Given the description of an element on the screen output the (x, y) to click on. 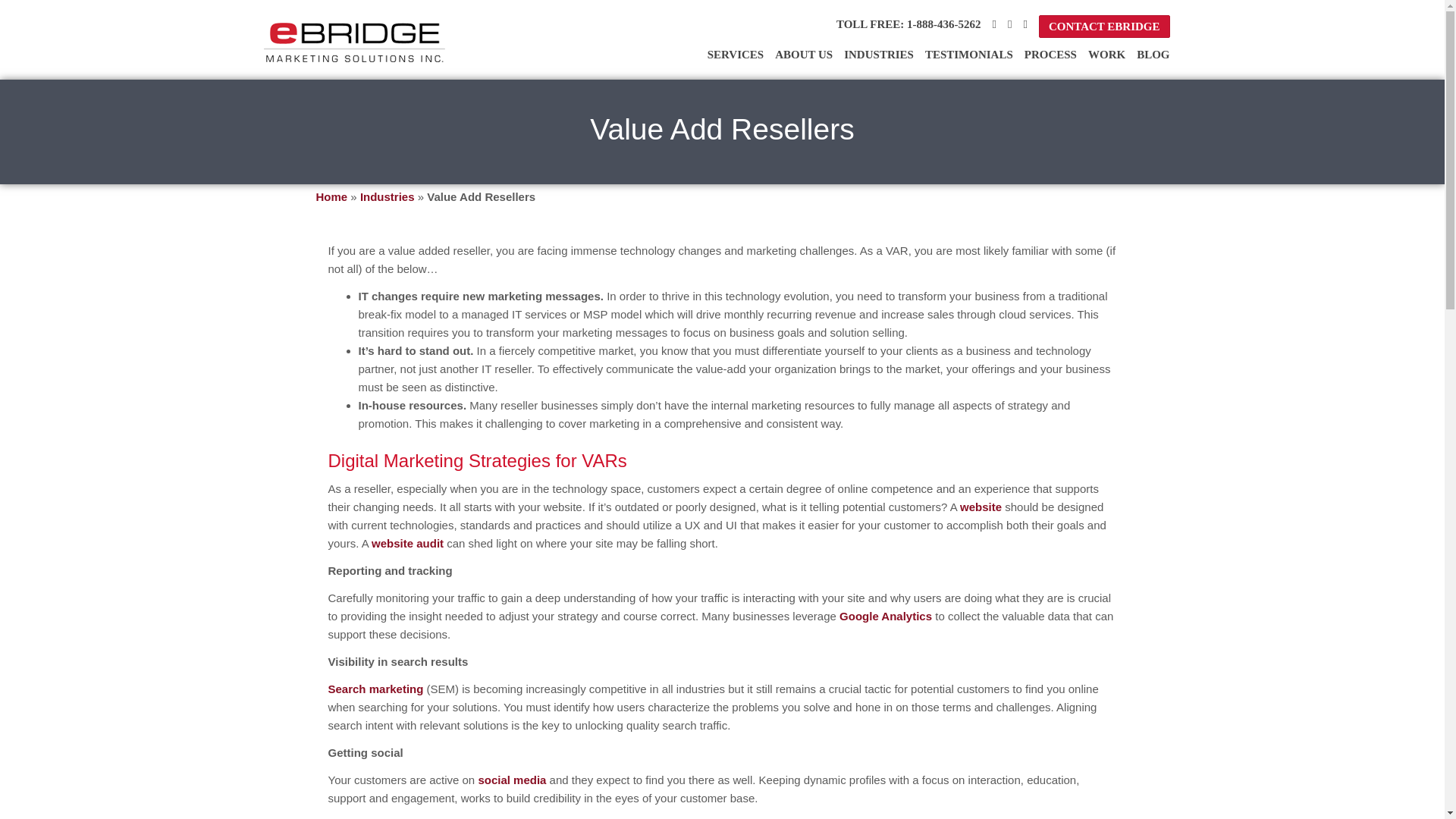
Google Analytics (885, 615)
WORK (1106, 54)
Industries (386, 196)
website (980, 506)
TESTIMONIALS (968, 54)
TOLL FREE: 1-888-436-5262 (908, 24)
website audit (407, 543)
social media (511, 779)
BLOG (1153, 54)
CONTACT EBRIDGE (1104, 26)
Home (331, 196)
ABOUT US (803, 54)
SERVICES (735, 54)
Search marketing (375, 688)
INDUSTRIES (879, 54)
